Given the description of an element on the screen output the (x, y) to click on. 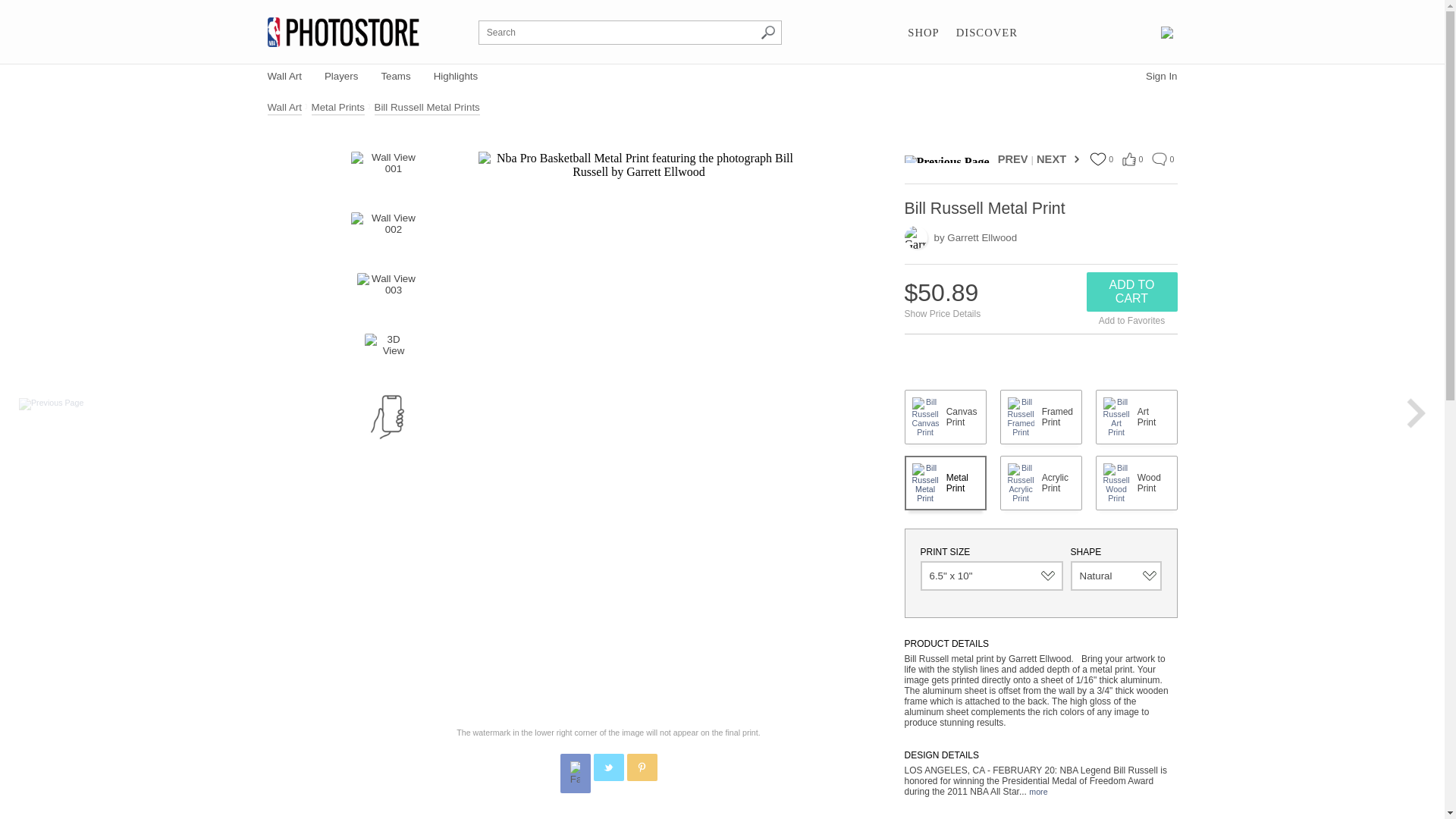
Search (767, 32)
Share Product on Twitter (607, 767)
Share Product on Pinterest (641, 767)
Twitter (609, 767)
Wall View 003 (386, 295)
3D View (387, 356)
Wall View 001 (386, 174)
Launch Mobile App (387, 416)
Wall View 002 (386, 234)
Comment (1158, 159)
Pinterest (642, 767)
Favorite (1097, 159)
NBA Photo Store (342, 31)
DISCOVER (987, 32)
SHOP (922, 32)
